Given the description of an element on the screen output the (x, y) to click on. 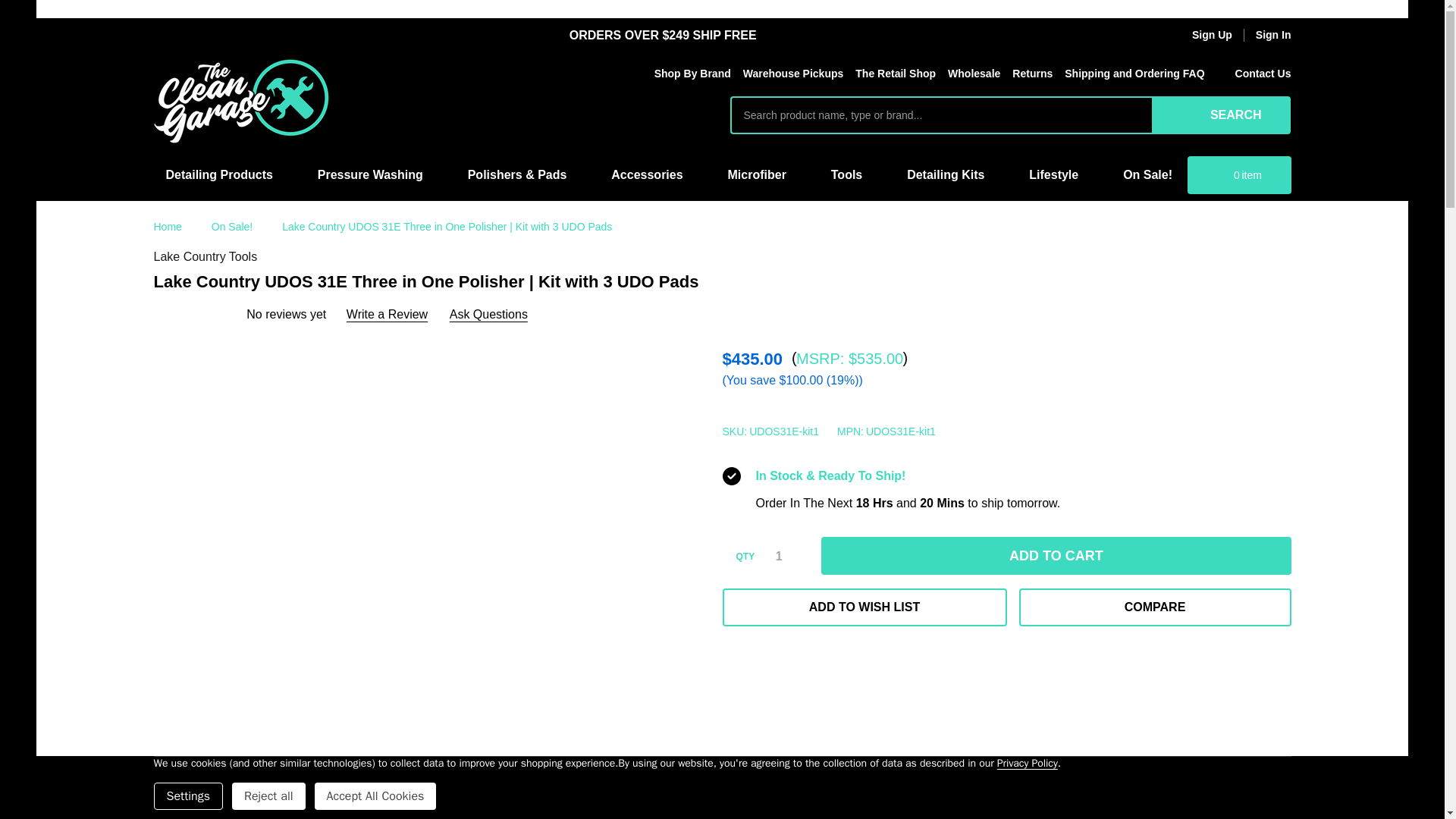
Returns (1026, 73)
Sign In (1273, 35)
Sign In (1273, 35)
Shop By Brand (686, 73)
Warehouse Pickups (787, 73)
Sign Up (1201, 35)
Wholesale (968, 73)
Shipping and Ordering FAQ (1137, 73)
Detailing Products (220, 174)
SEARCH (1220, 115)
